Given the description of an element on the screen output the (x, y) to click on. 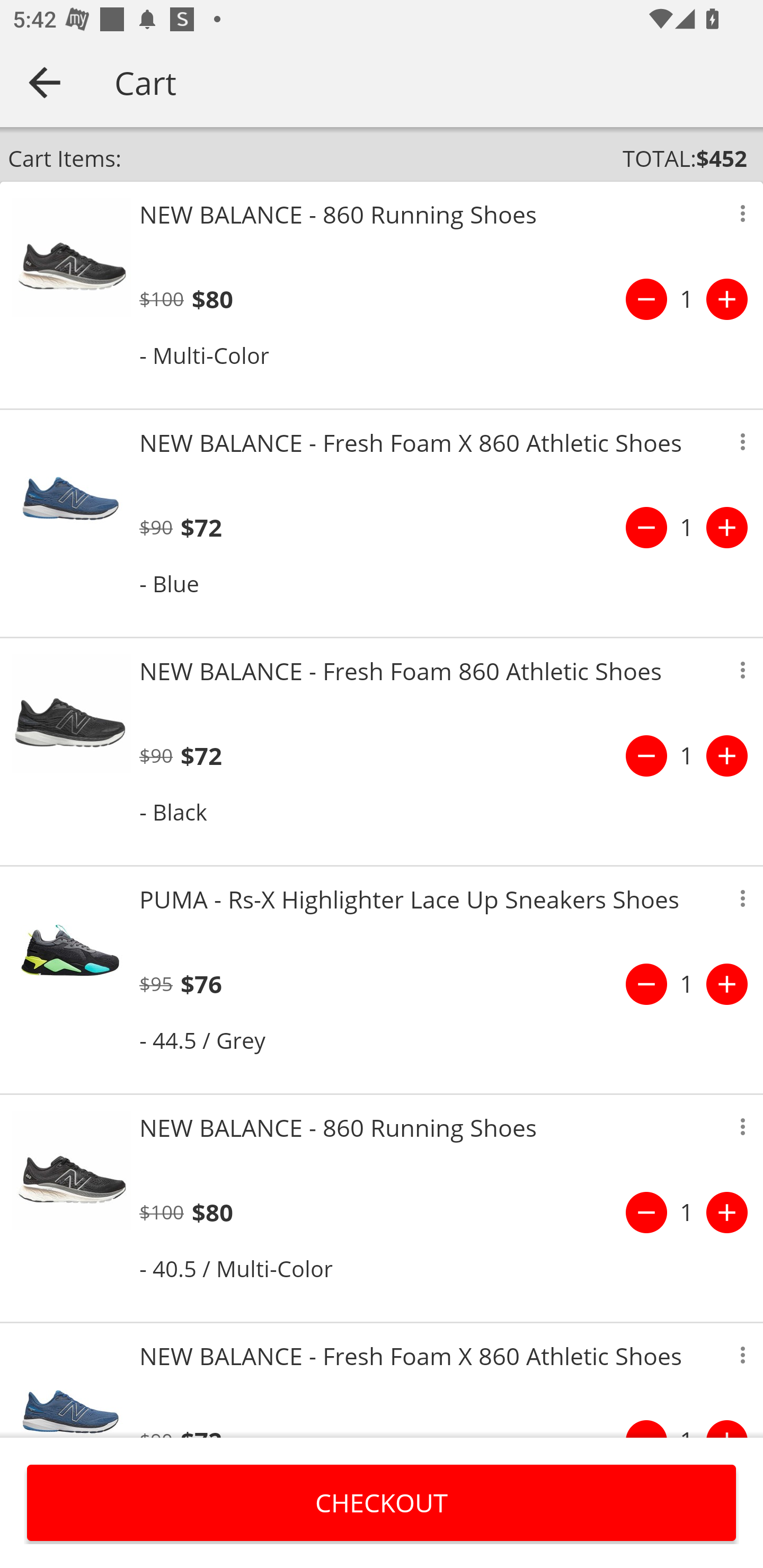
Navigate up (44, 82)
1 (686, 299)
1 (686, 527)
1 (686, 755)
1 (686, 984)
1 (686, 1211)
CHECKOUT (381, 1502)
